Given the description of an element on the screen output the (x, y) to click on. 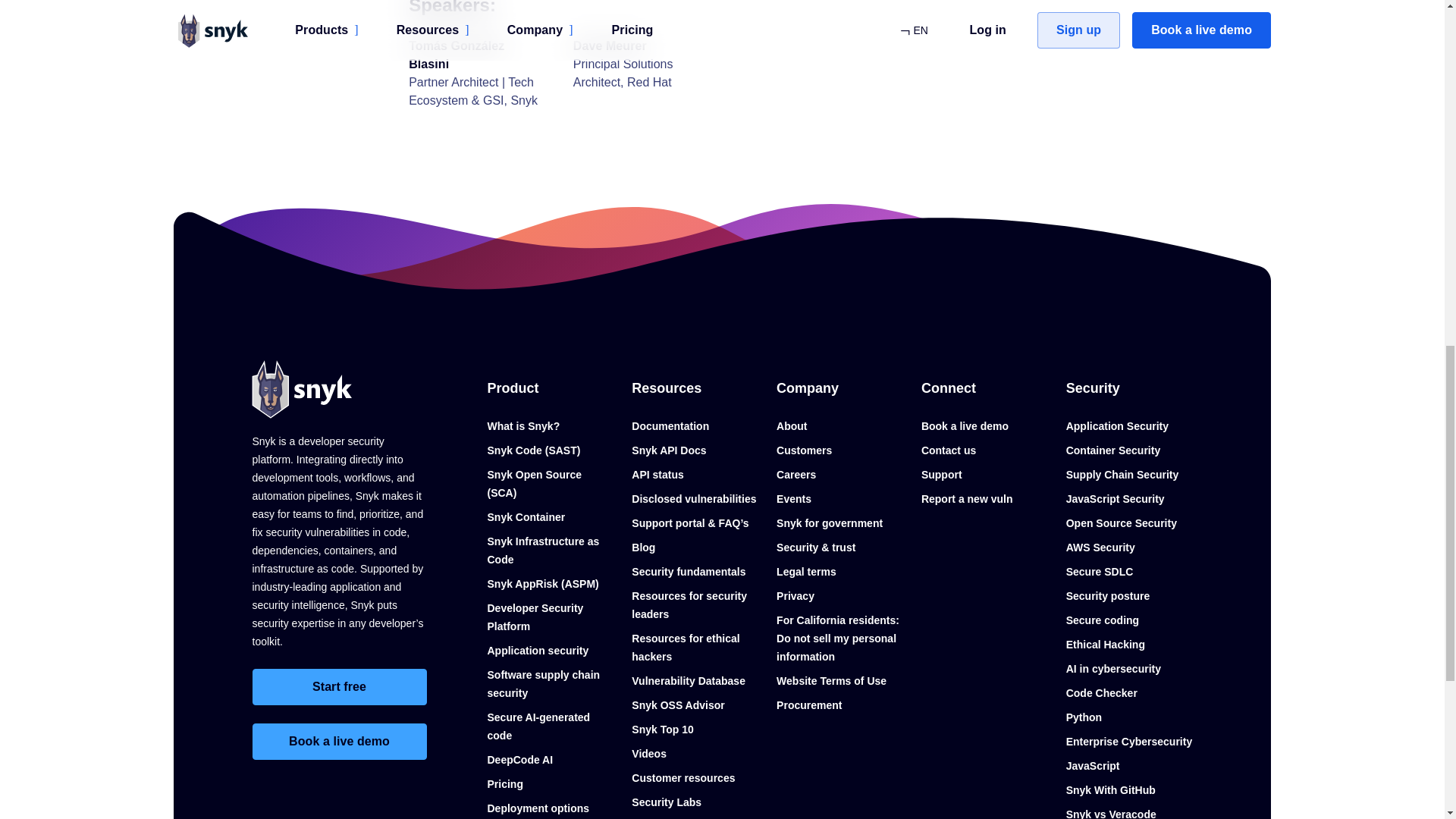
Book a live demo (338, 741)
Start free (338, 687)
